Given the description of an element on the screen output the (x, y) to click on. 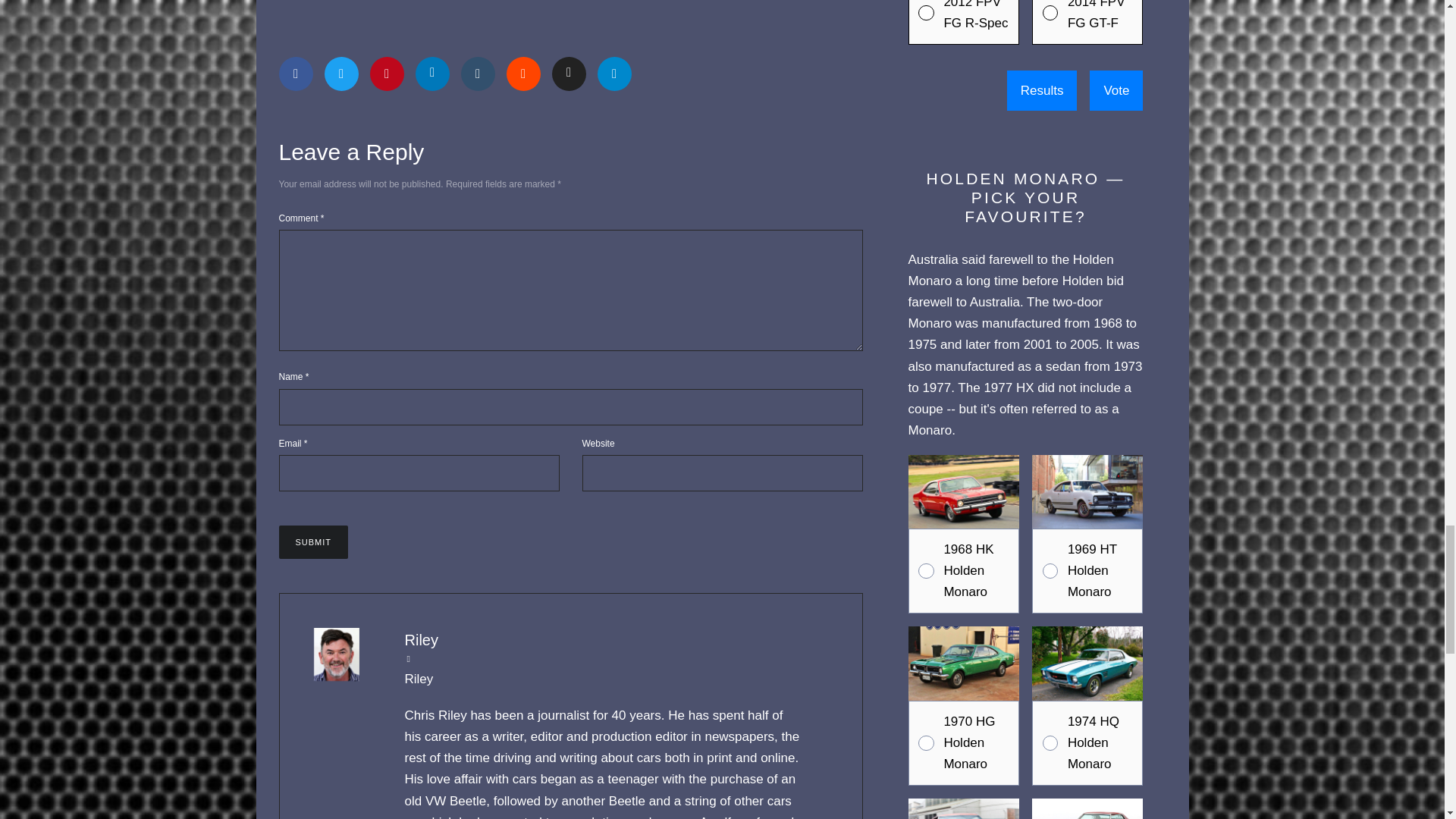
Submit (314, 541)
